Given the description of an element on the screen output the (x, y) to click on. 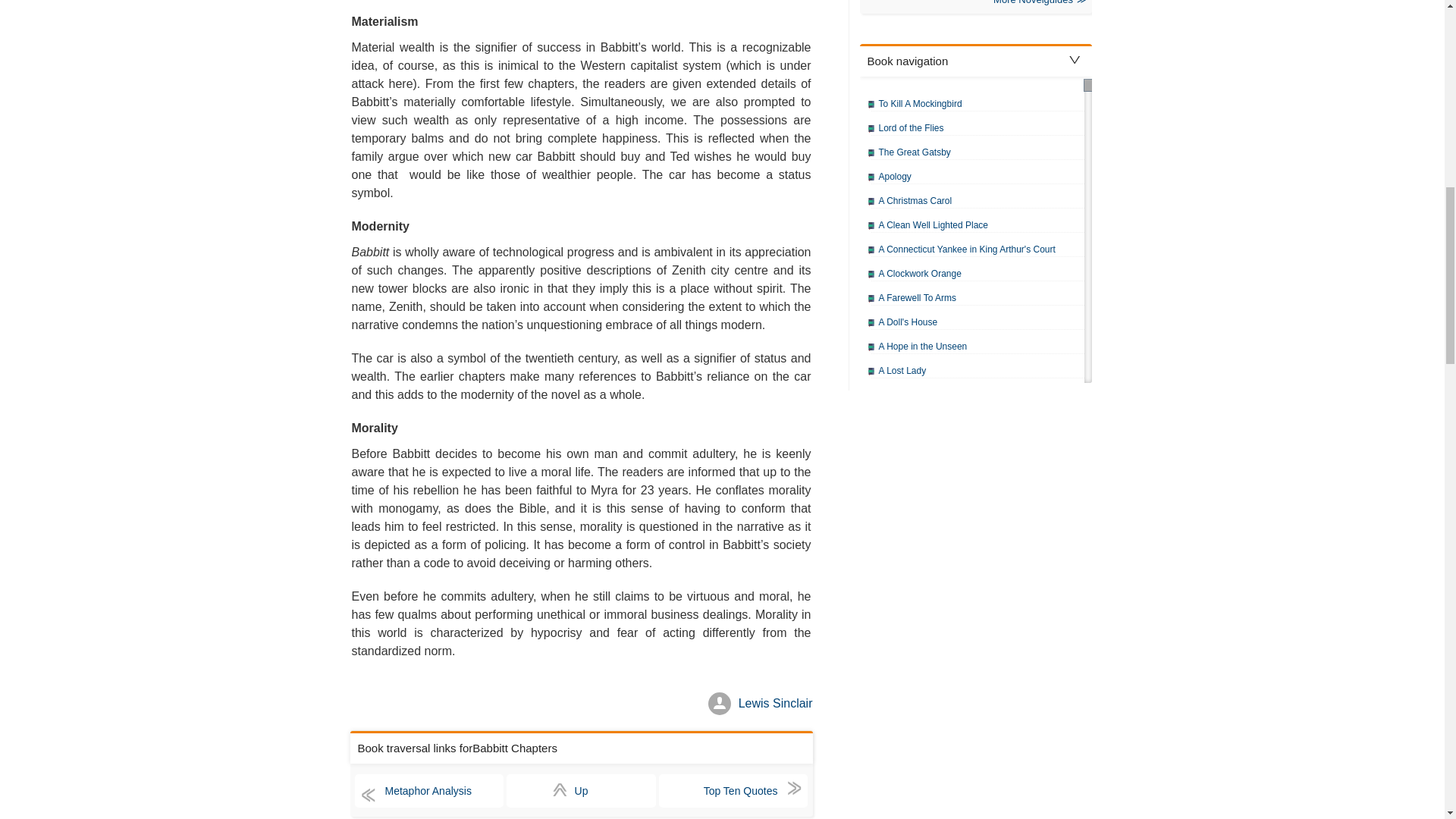
Go to parent page (581, 790)
Go to next page (733, 790)
Go to previous page (429, 790)
